Given the description of an element on the screen output the (x, y) to click on. 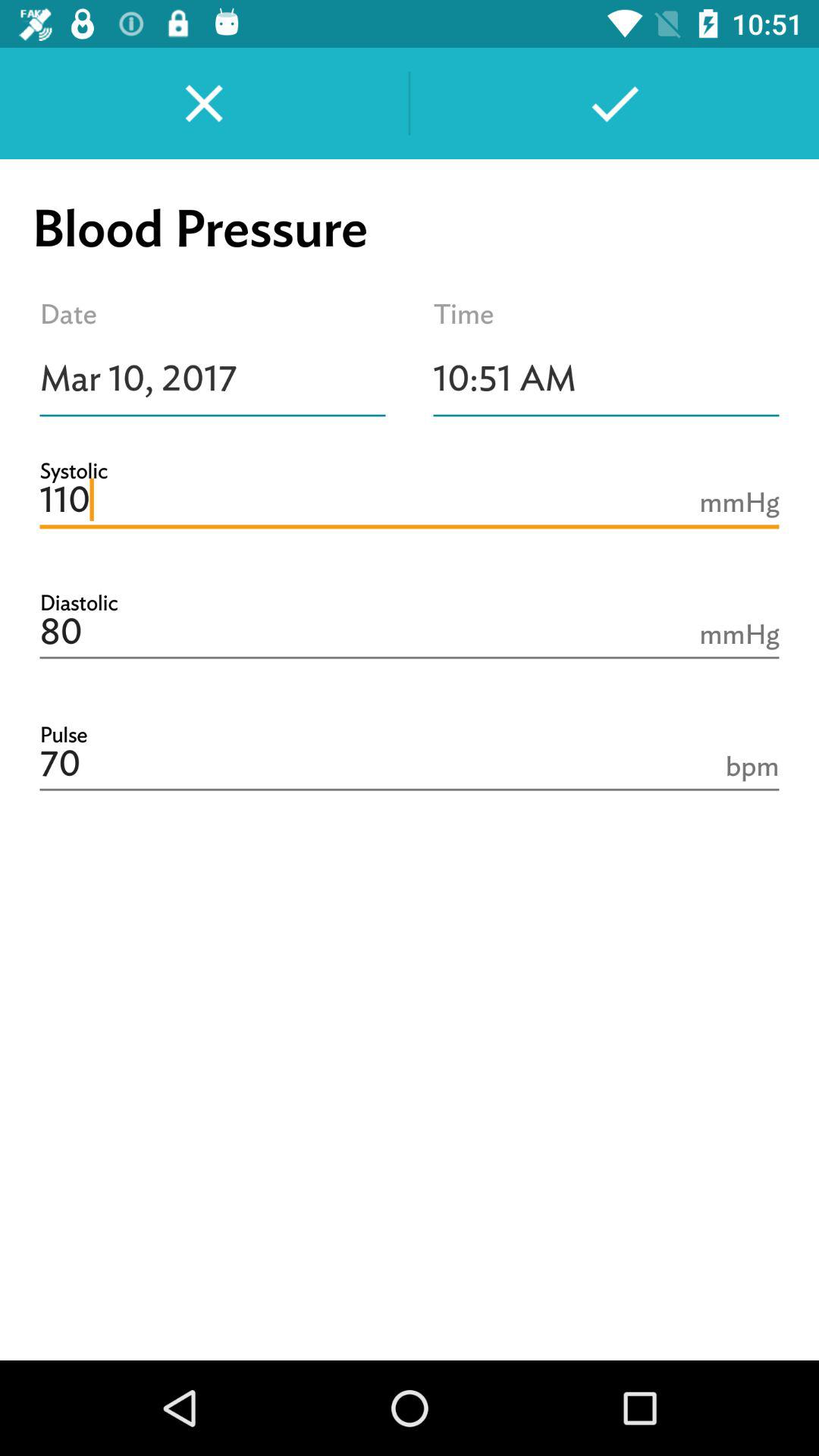
press the icon to the right of mar 10, 2017 icon (606, 378)
